Given the description of an element on the screen output the (x, y) to click on. 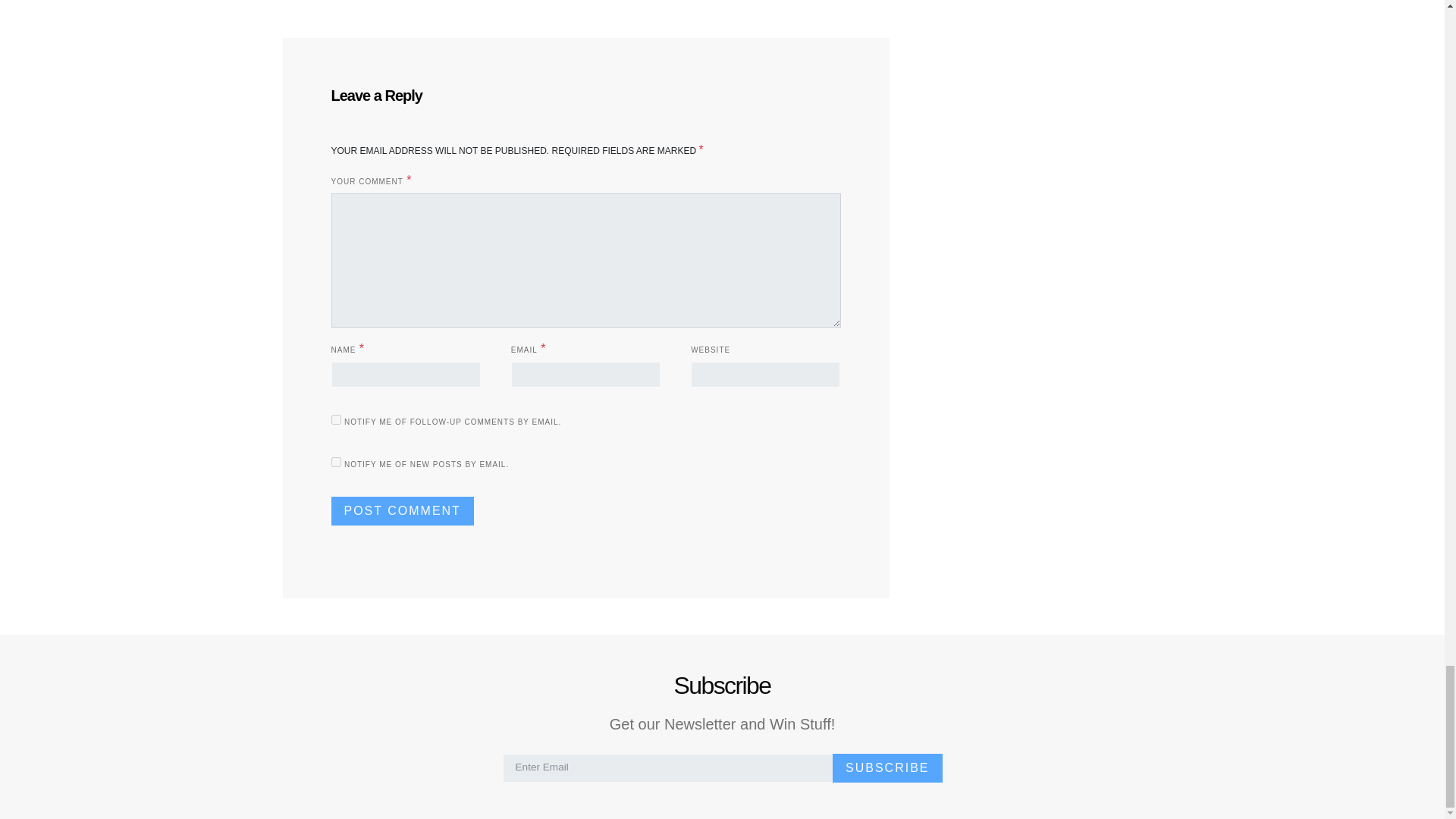
subscribe (335, 419)
Post Comment (401, 510)
subscribe (335, 461)
